Given the description of an element on the screen output the (x, y) to click on. 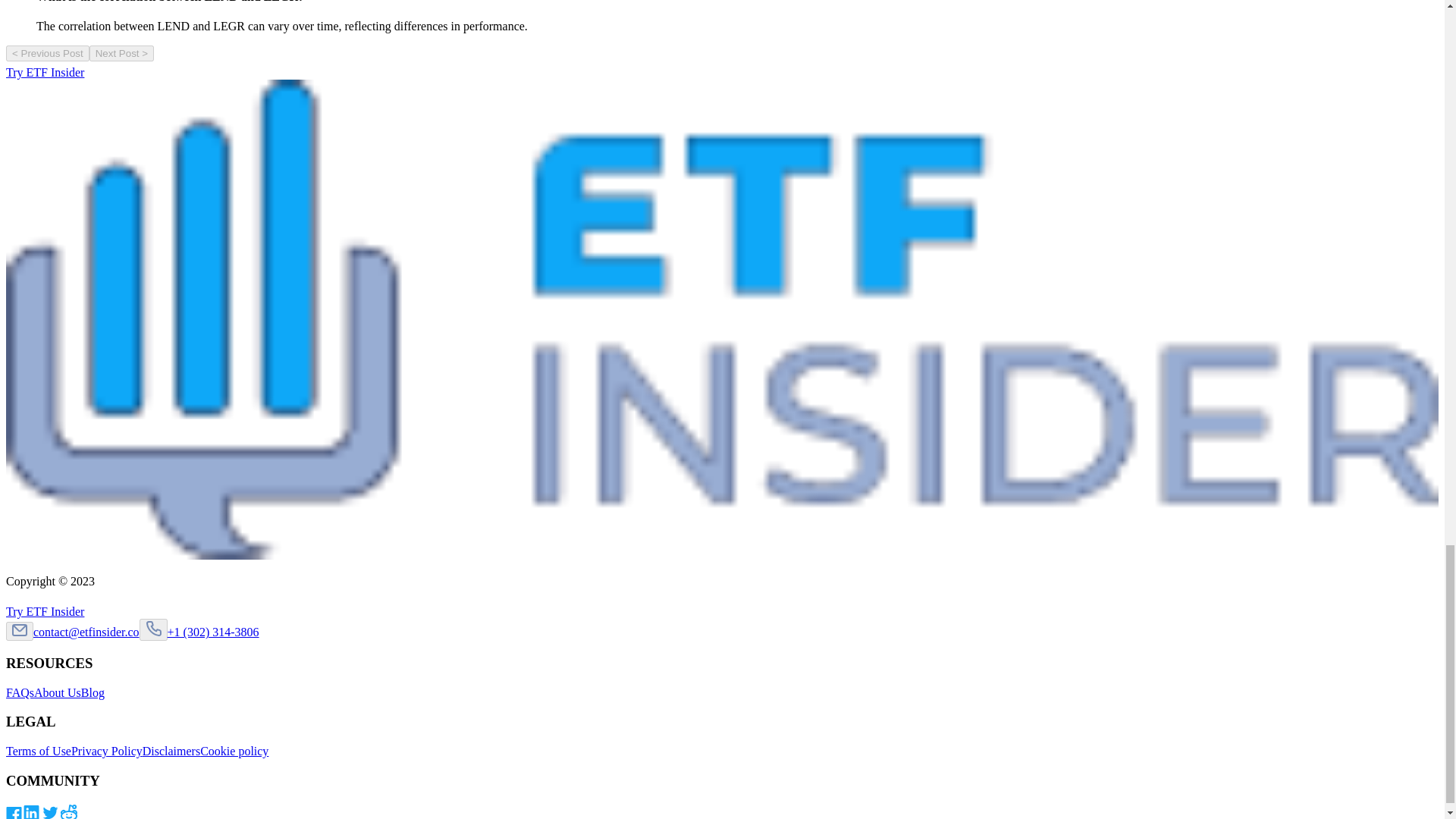
Privacy Policy (106, 750)
Blog (92, 692)
Try ETF Insider (52, 611)
Terms of Use (38, 750)
Disclaimers (171, 750)
Try ETF Insider (52, 72)
Cookie policy (233, 750)
FAQs (19, 692)
About Us (57, 692)
